Given the description of an element on the screen output the (x, y) to click on. 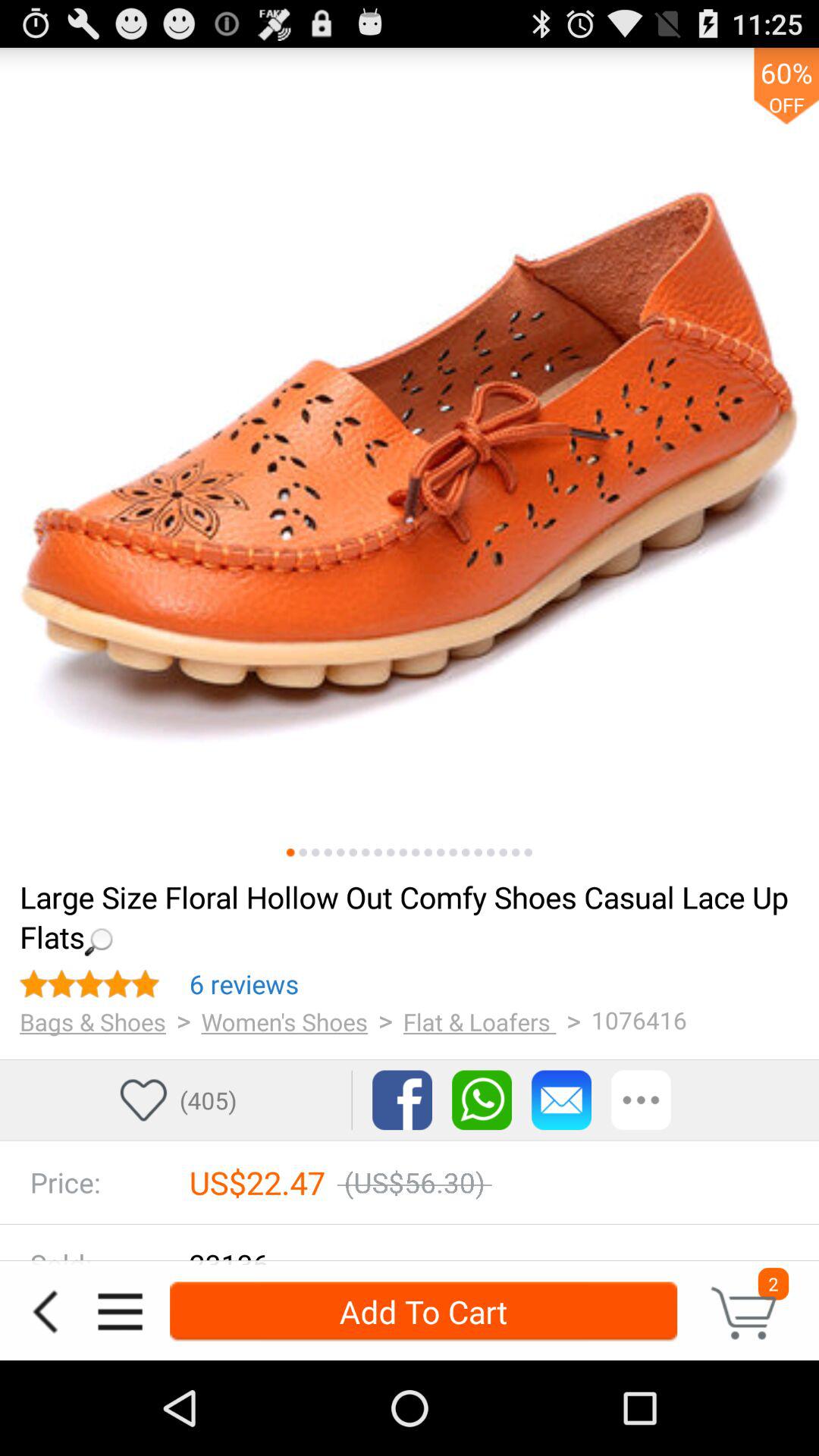
different view of image (403, 852)
